Given the description of an element on the screen output the (x, y) to click on. 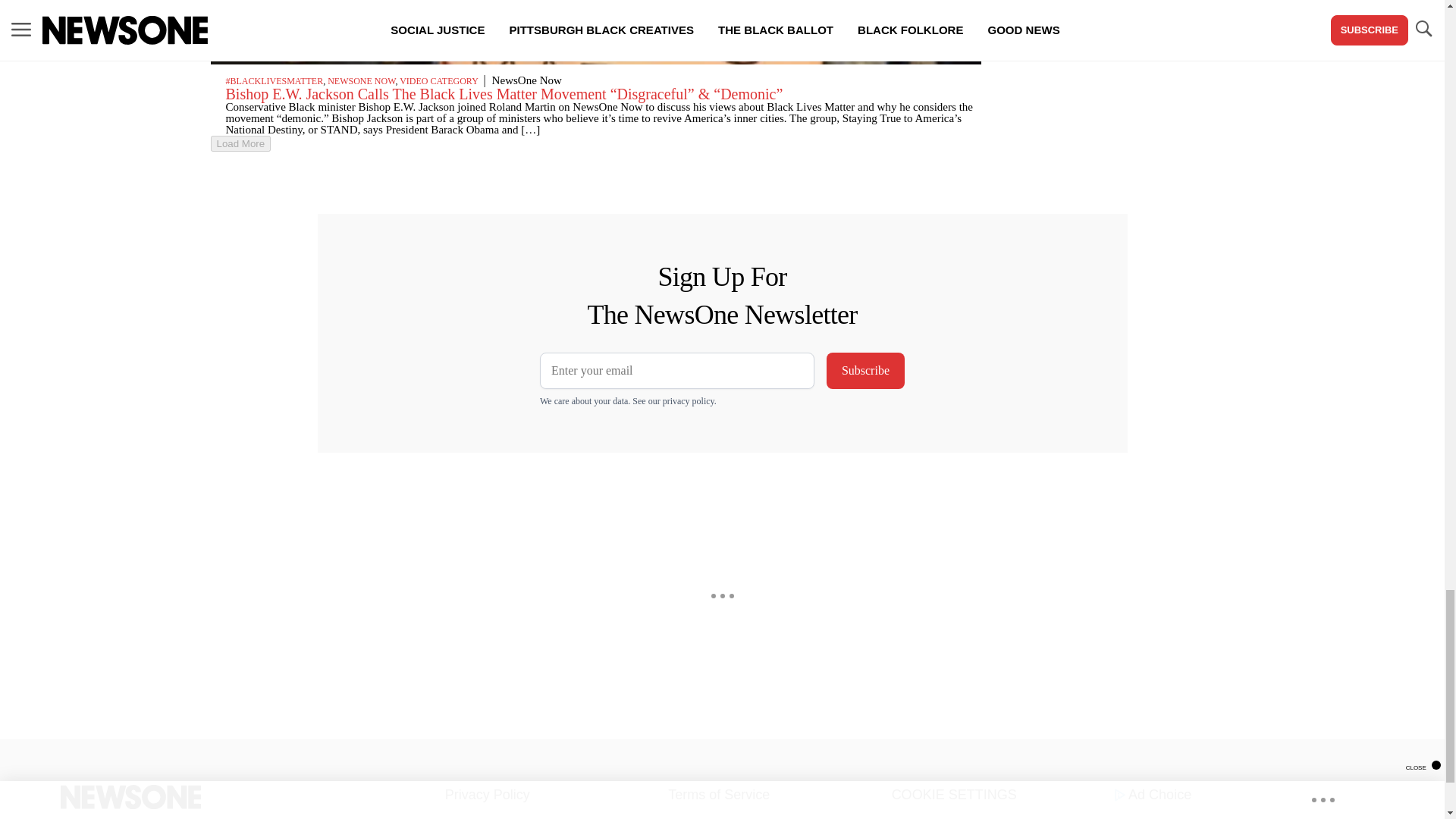
NEWSONE NOW (360, 81)
Load More (240, 143)
VIDEO CATEGORY (437, 81)
Load More (596, 143)
Load More (240, 143)
